Given the description of an element on the screen output the (x, y) to click on. 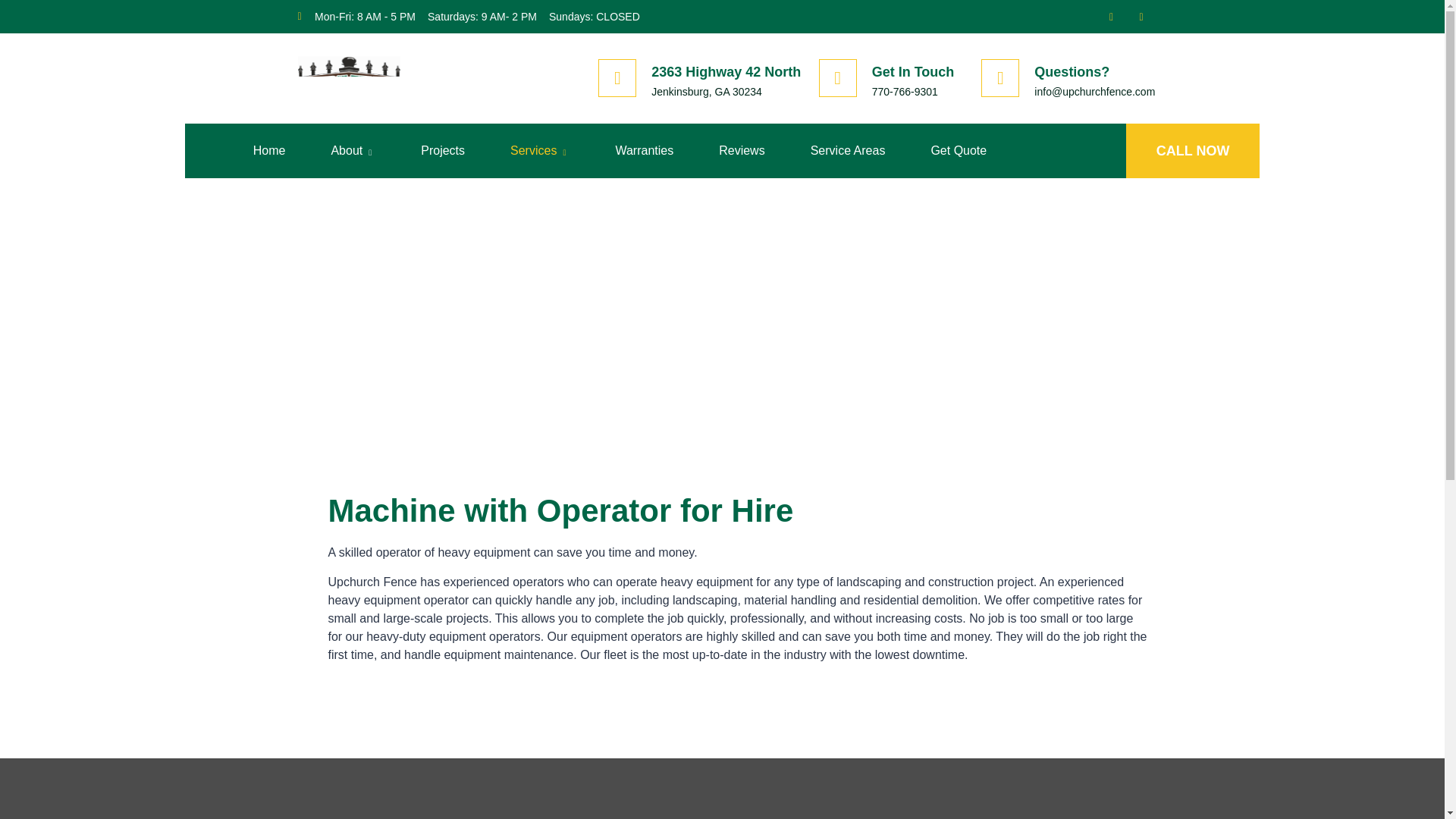
Warranties (643, 150)
Questions? (1071, 71)
Service Areas (847, 150)
About (352, 150)
CALL NOW (1192, 150)
Home (269, 150)
Get In Touch (913, 71)
Get Quote (958, 150)
Reviews (741, 150)
2363 Highway 42 North (725, 71)
Projects (442, 150)
Services (539, 150)
